Given the description of an element on the screen output the (x, y) to click on. 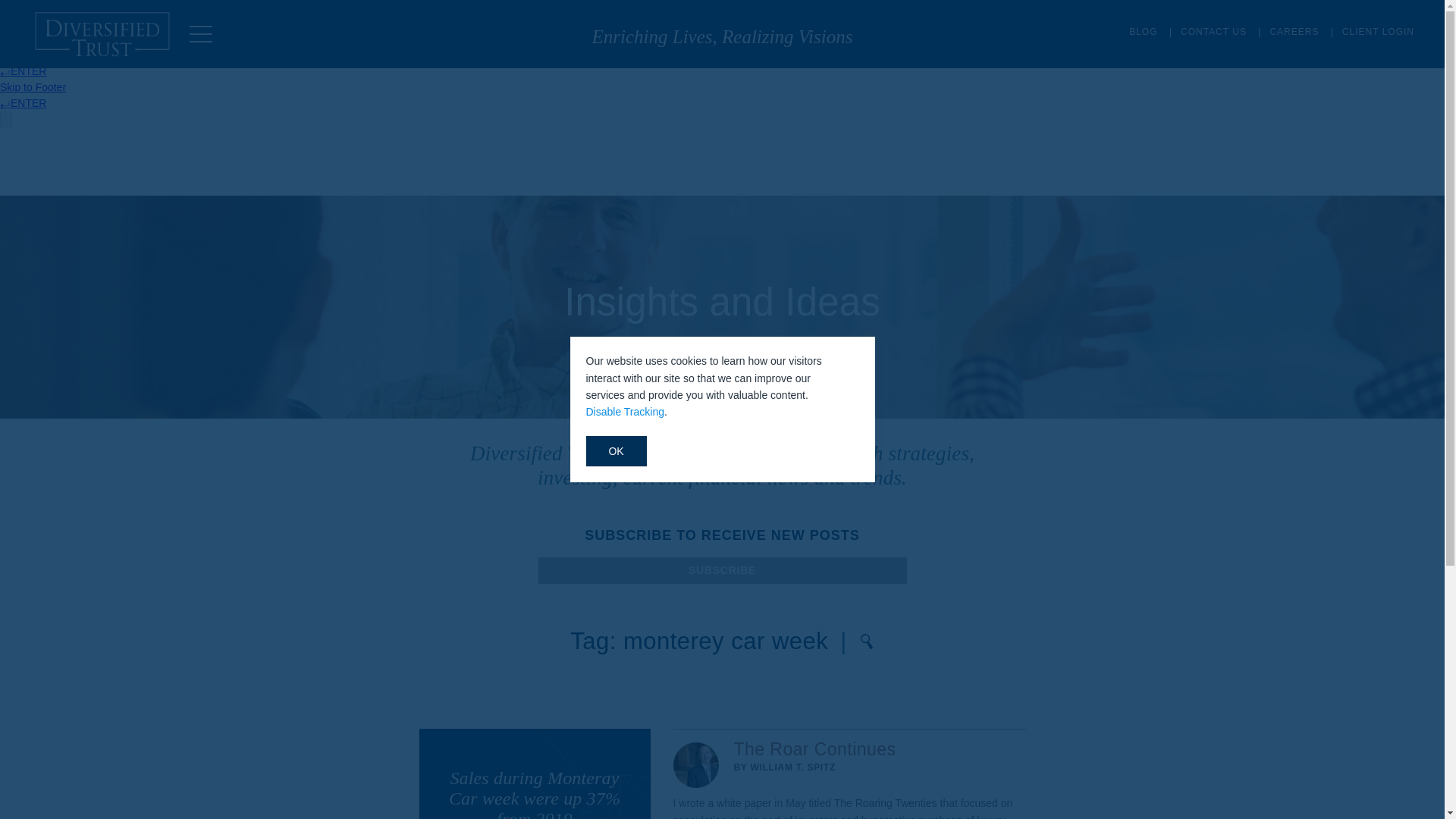
Subscribe (722, 570)
OK (615, 450)
